Given the description of an element on the screen output the (x, y) to click on. 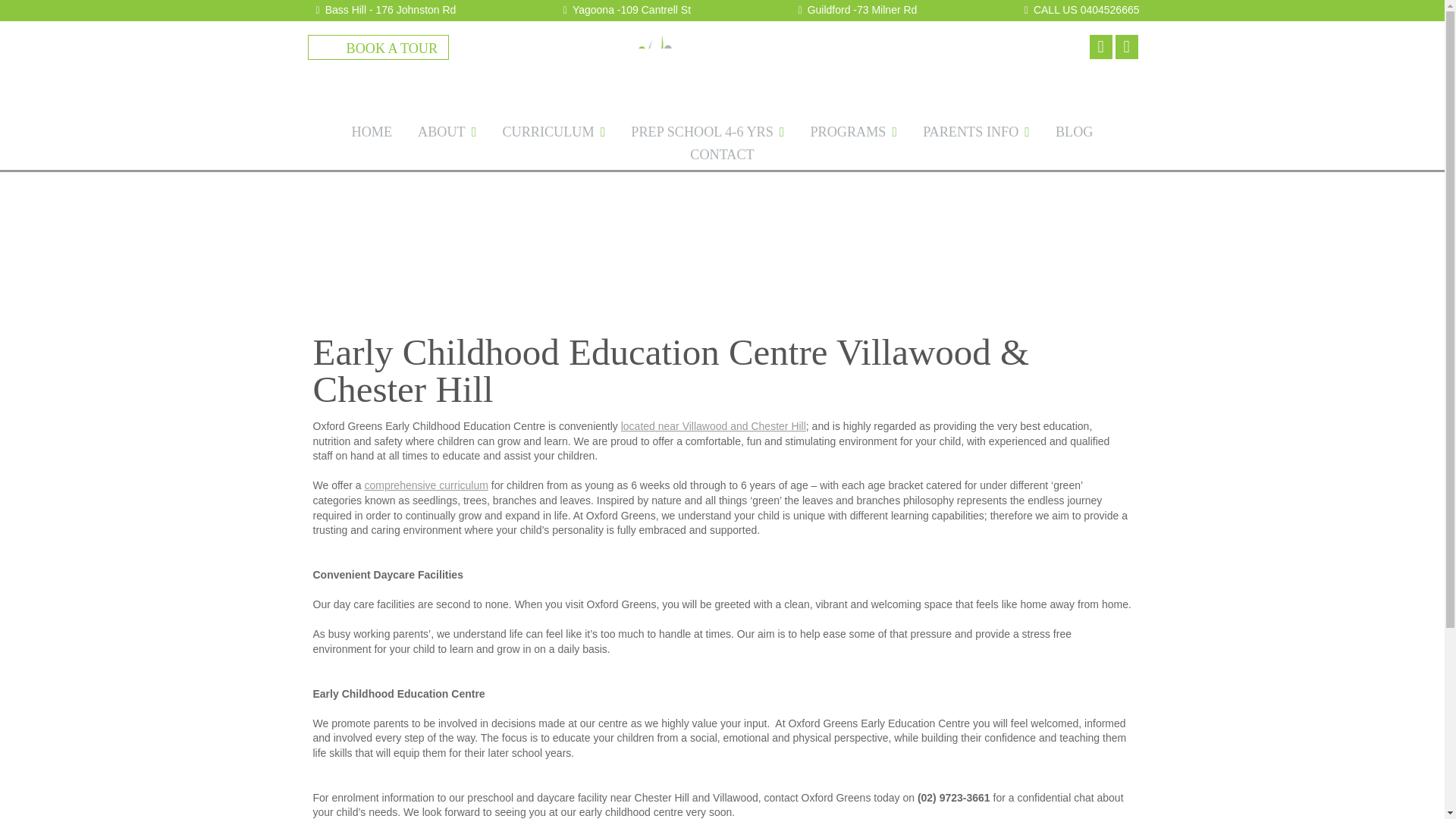
HOME (370, 136)
PROGRAMS (853, 136)
CONTACT (722, 159)
ABOUT (446, 136)
PREP SCHOOL 4-6 YRS (706, 136)
CURRICULUM (553, 136)
BLOG (1074, 136)
BOOK A TOUR (392, 48)
PARENTS INFO (976, 136)
